Given the description of an element on the screen output the (x, y) to click on. 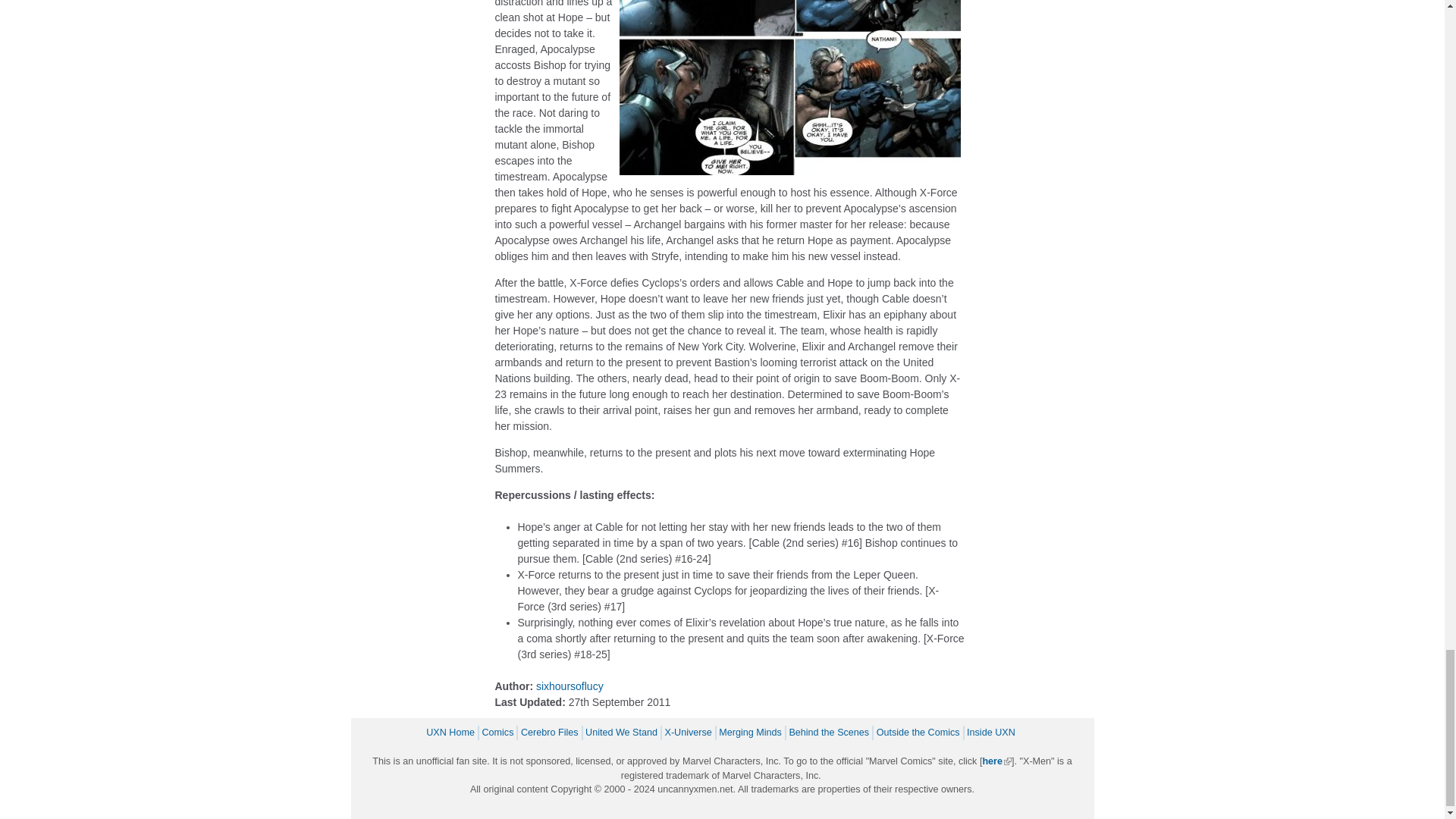
sixhoursoflucy (569, 686)
